Given the description of an element on the screen output the (x, y) to click on. 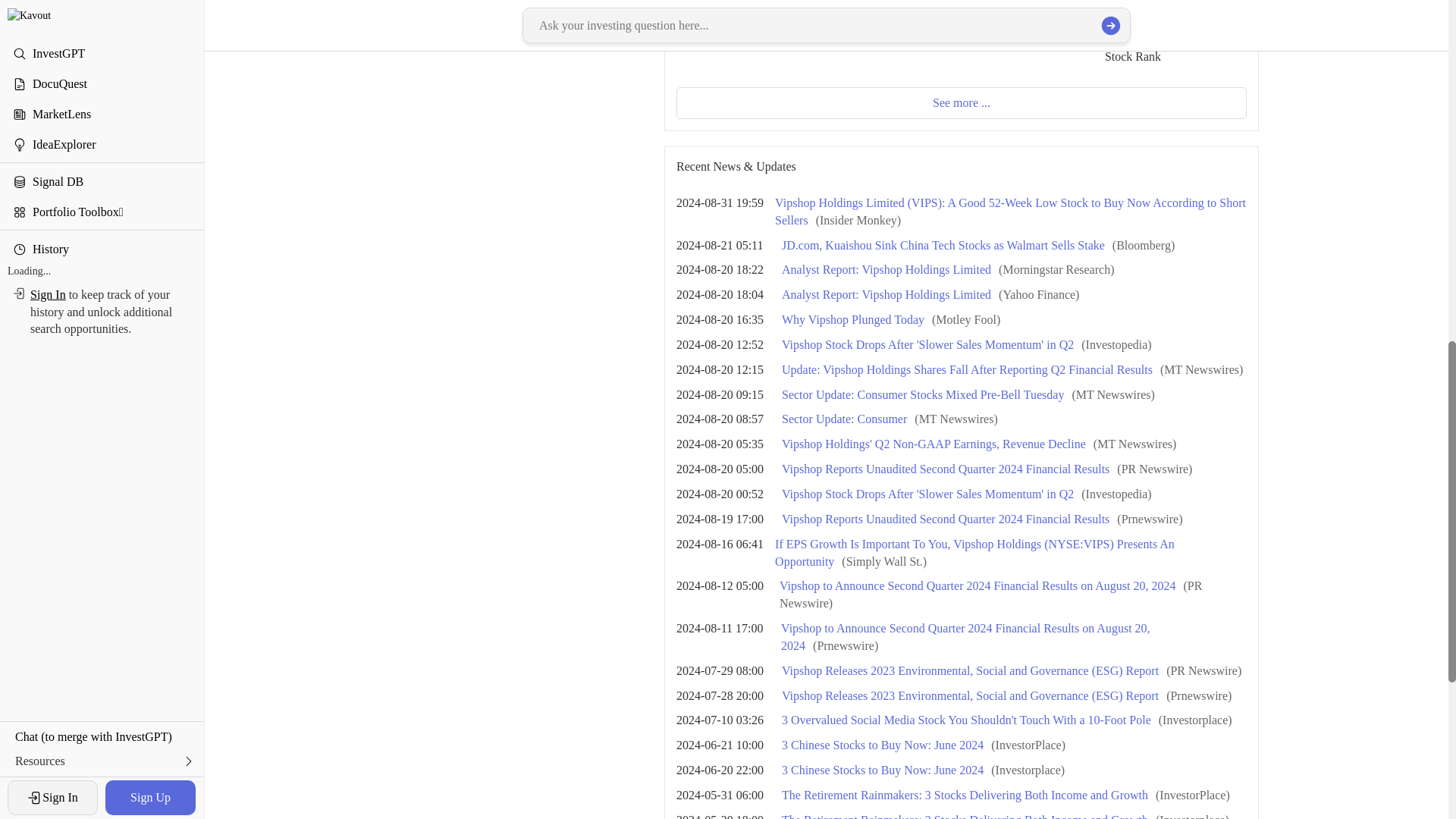
Sector Update: Consumer (844, 418)
Analyst Report: Vipshop Holdings Limited (886, 294)
Why Vipshop Plunged Today (852, 318)
Vipshop Stock Drops After 'Slower Sales Momentum' in Q2 (927, 344)
Analyst Report: Vipshop Holdings Limited (886, 269)
Sector Update: Consumer Stocks Mixed Pre-Bell Tuesday (922, 394)
Vipshop Holdings' Q2 Non-GAAP Earnings, Revenue Decline (933, 443)
